Given the description of an element on the screen output the (x, y) to click on. 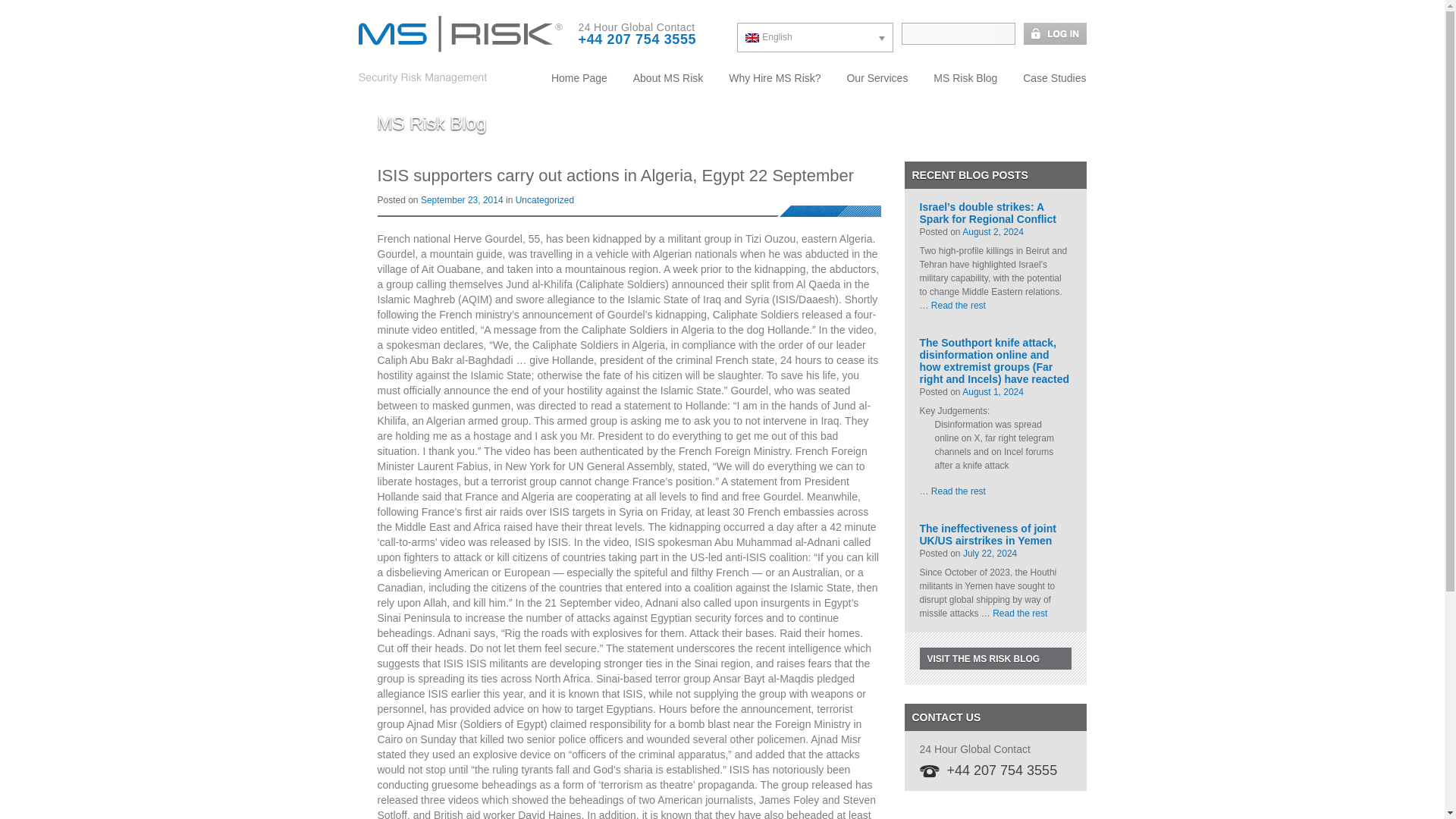
VISIT THE MS RISK BLOG (994, 658)
Home Page (579, 77)
Read the rest (958, 305)
Login (1050, 33)
MS Risk Blog (965, 77)
English (814, 37)
Search (1003, 33)
July 22, 2024 (989, 552)
10:40 pm (992, 391)
Read the rest (958, 491)
